Given the description of an element on the screen output the (x, y) to click on. 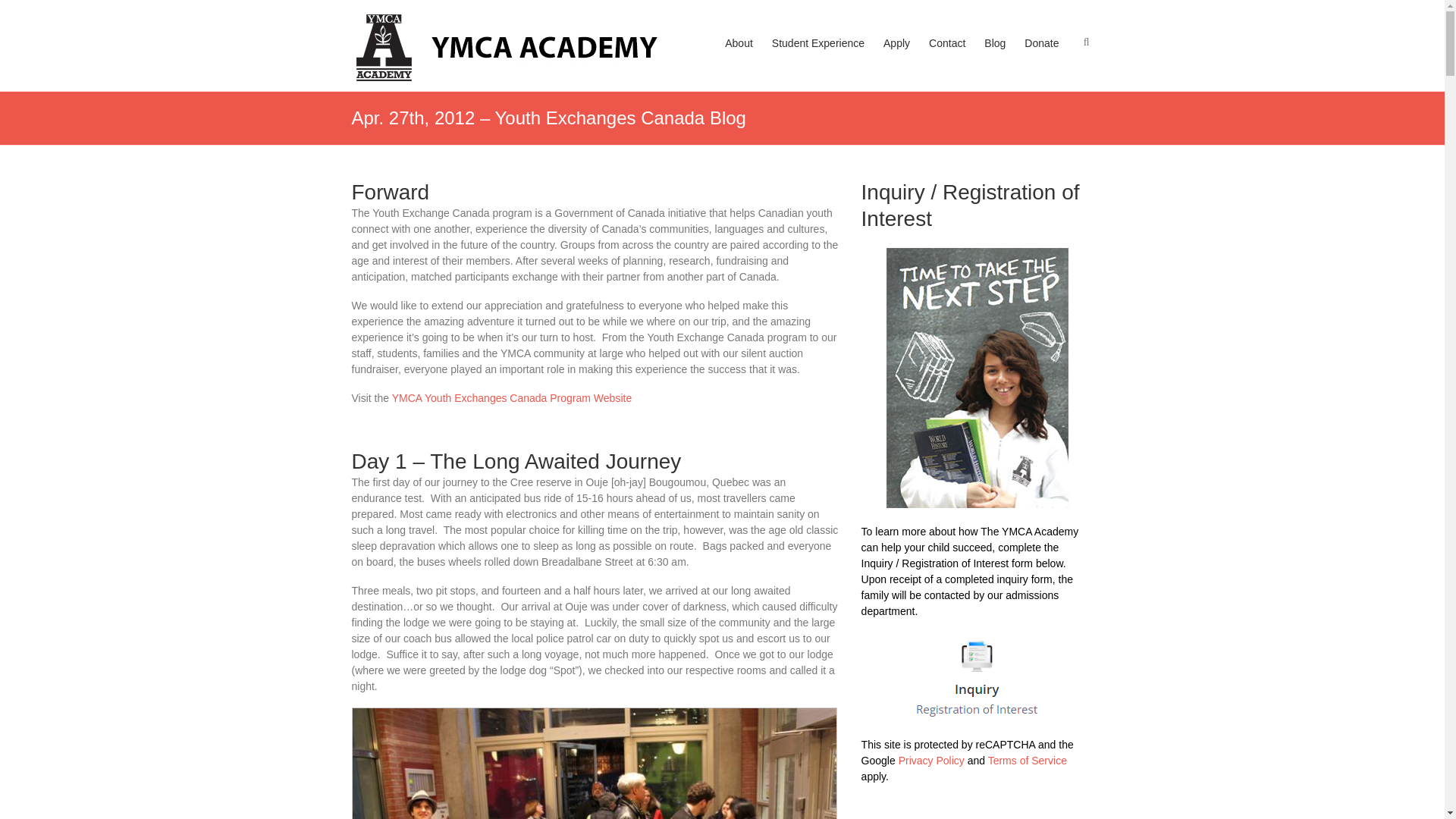
YMCA Youth Exchanges Canada Program Website (511, 398)
YMCA Academy (413, 35)
YMCA Academy (413, 35)
Student Experience (817, 57)
